Given the description of an element on the screen output the (x, y) to click on. 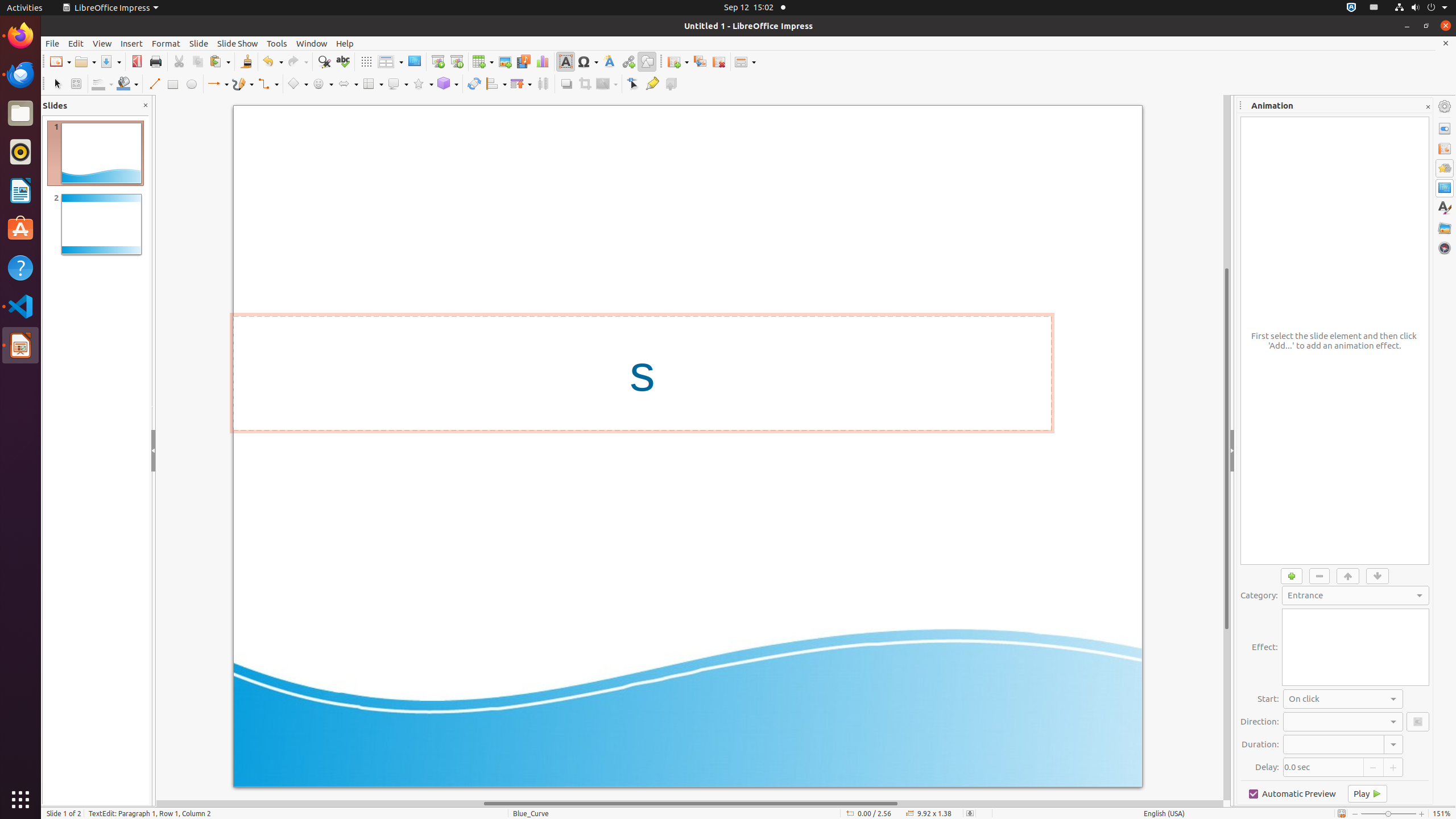
New Slide Element type: push-button (677, 61)
Tools Element type: menu (276, 43)
Table Element type: push-button (482, 61)
Format Element type: menu (165, 43)
Options Element type: push-button (1417, 721)
